Given the description of an element on the screen output the (x, y) to click on. 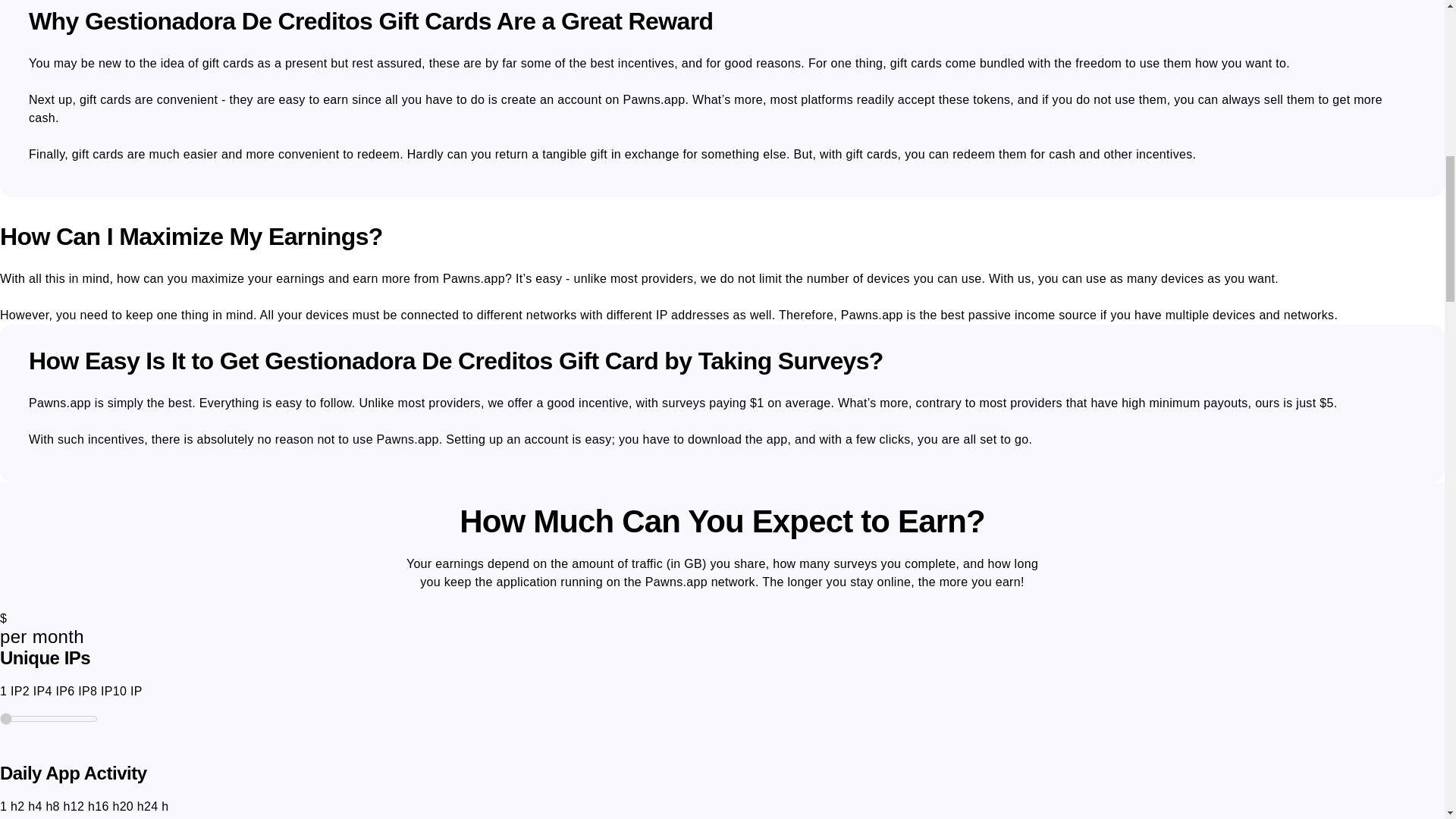
0 (48, 718)
